Given the description of an element on the screen output the (x, y) to click on. 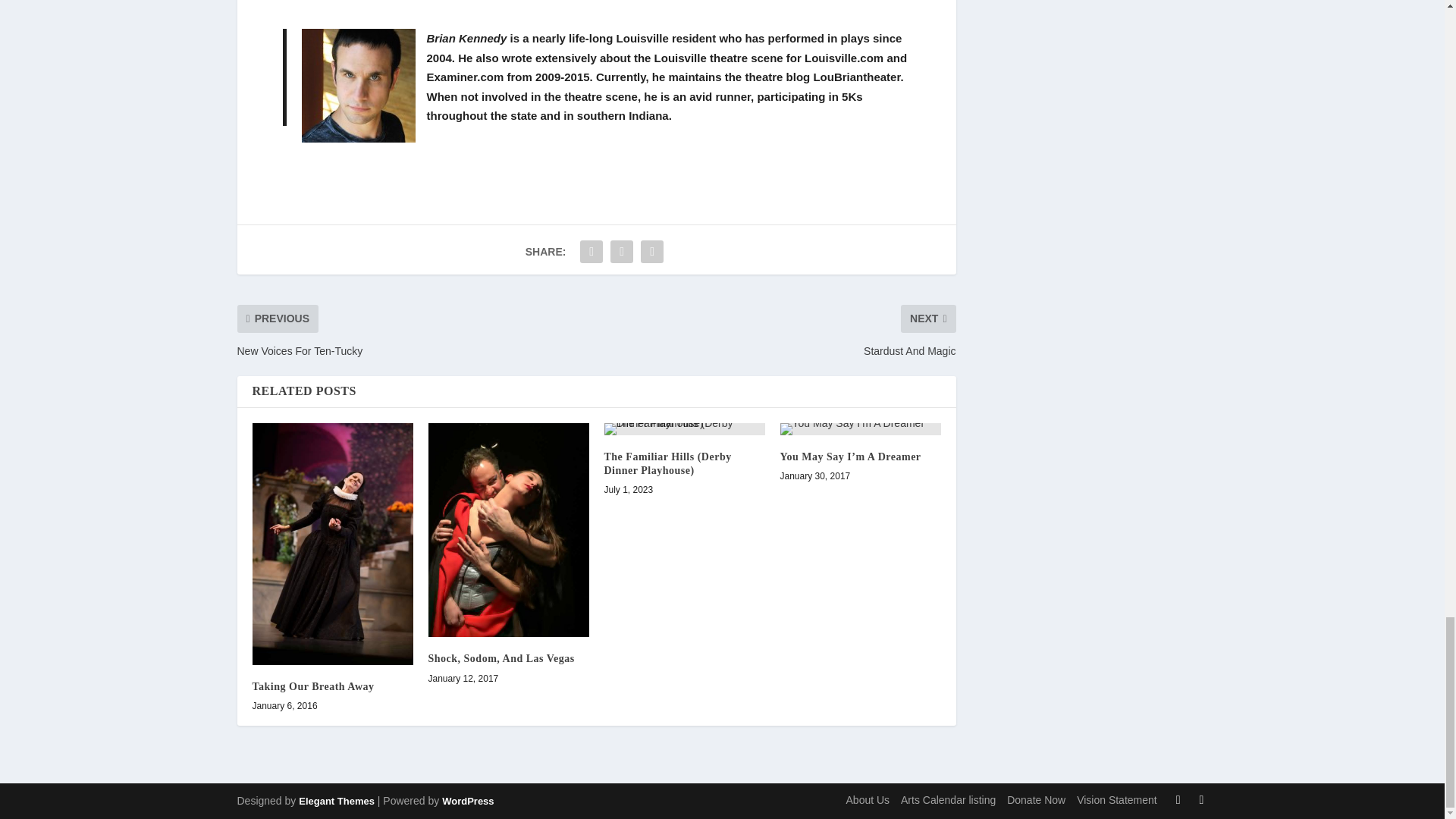
Share "Maggie The Cat" via Email (651, 251)
Share "Maggie The Cat" via Facebook (591, 251)
Premium WordPress Themes (336, 800)
Share "Maggie The Cat" via Twitter (622, 251)
